Given the description of an element on the screen output the (x, y) to click on. 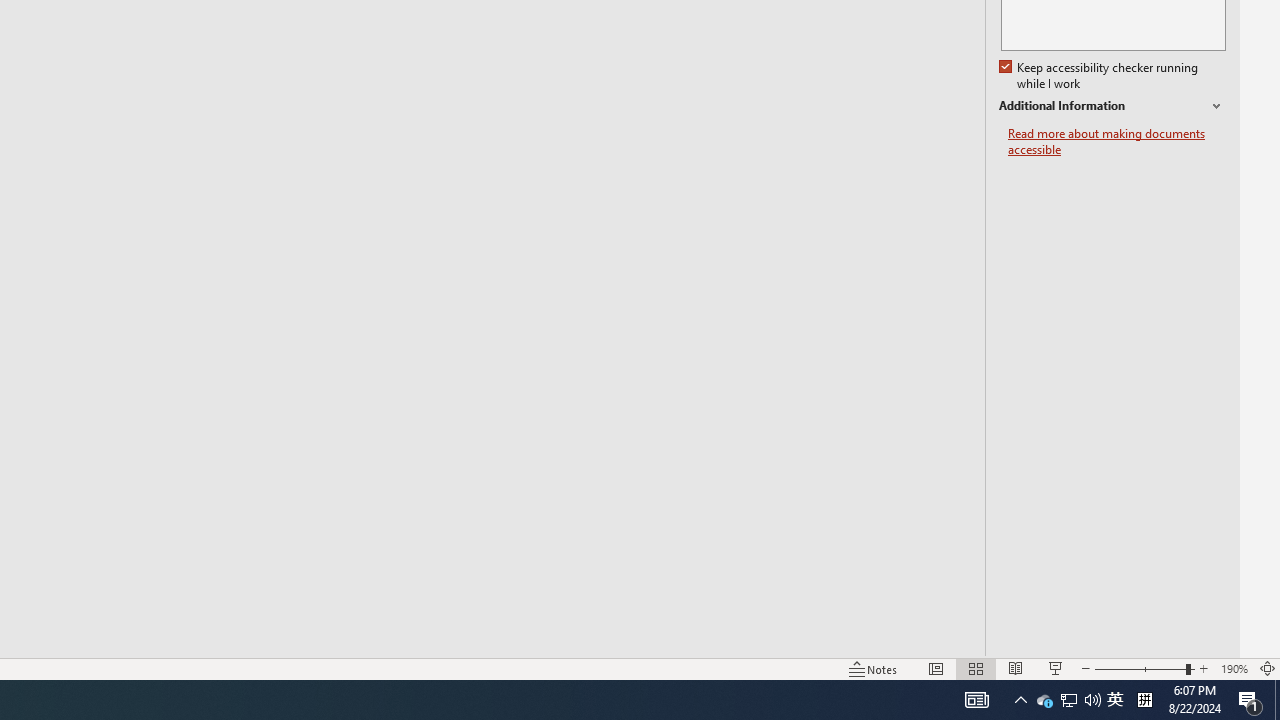
Zoom 190% (1234, 668)
